Given the description of an element on the screen output the (x, y) to click on. 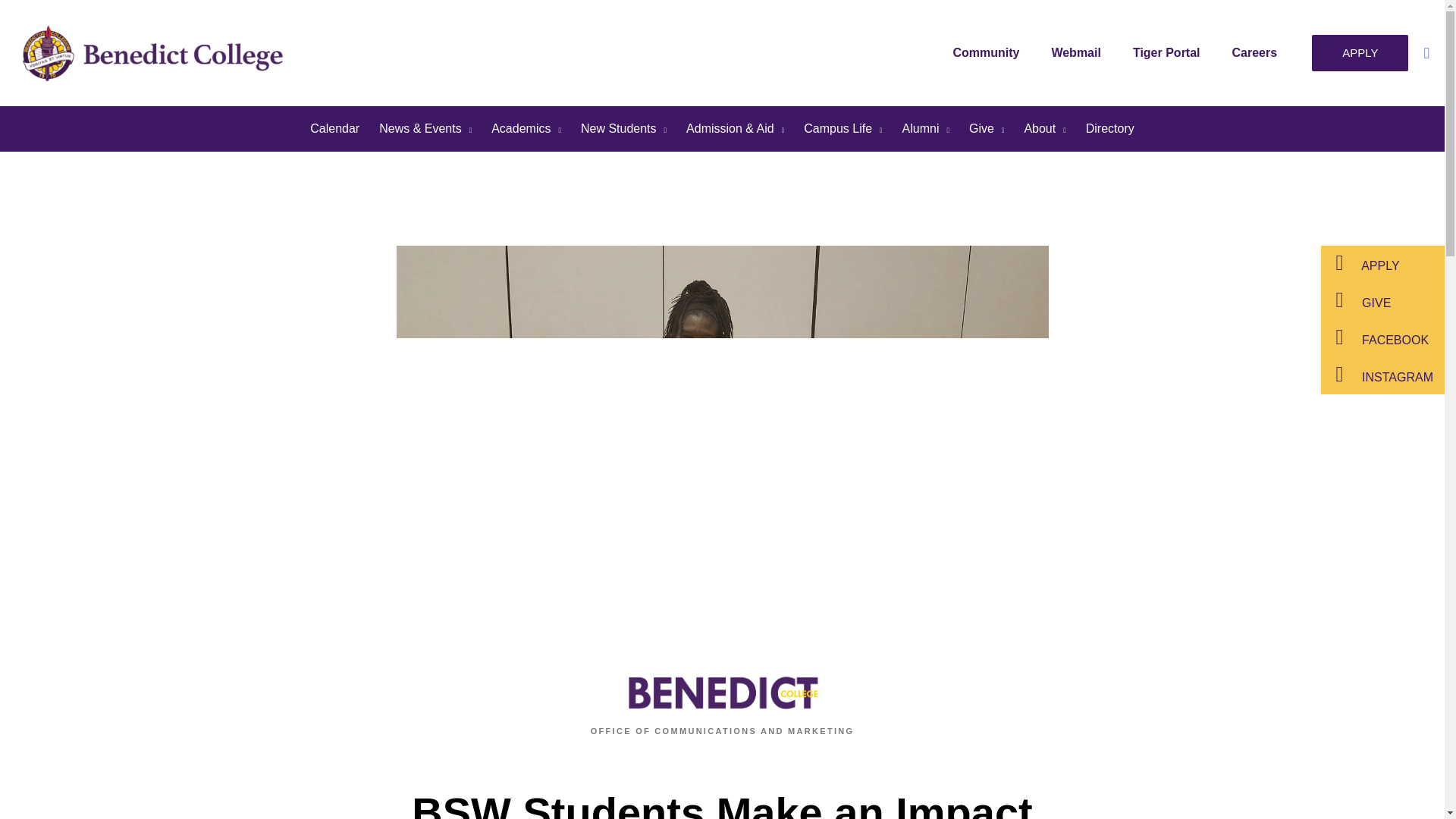
Careers (1258, 52)
Tiger Portal (1170, 52)
APPLY (1359, 53)
Calendar (334, 128)
Community (989, 52)
Webmail (1080, 52)
Academics (525, 128)
